Given the description of an element on the screen output the (x, y) to click on. 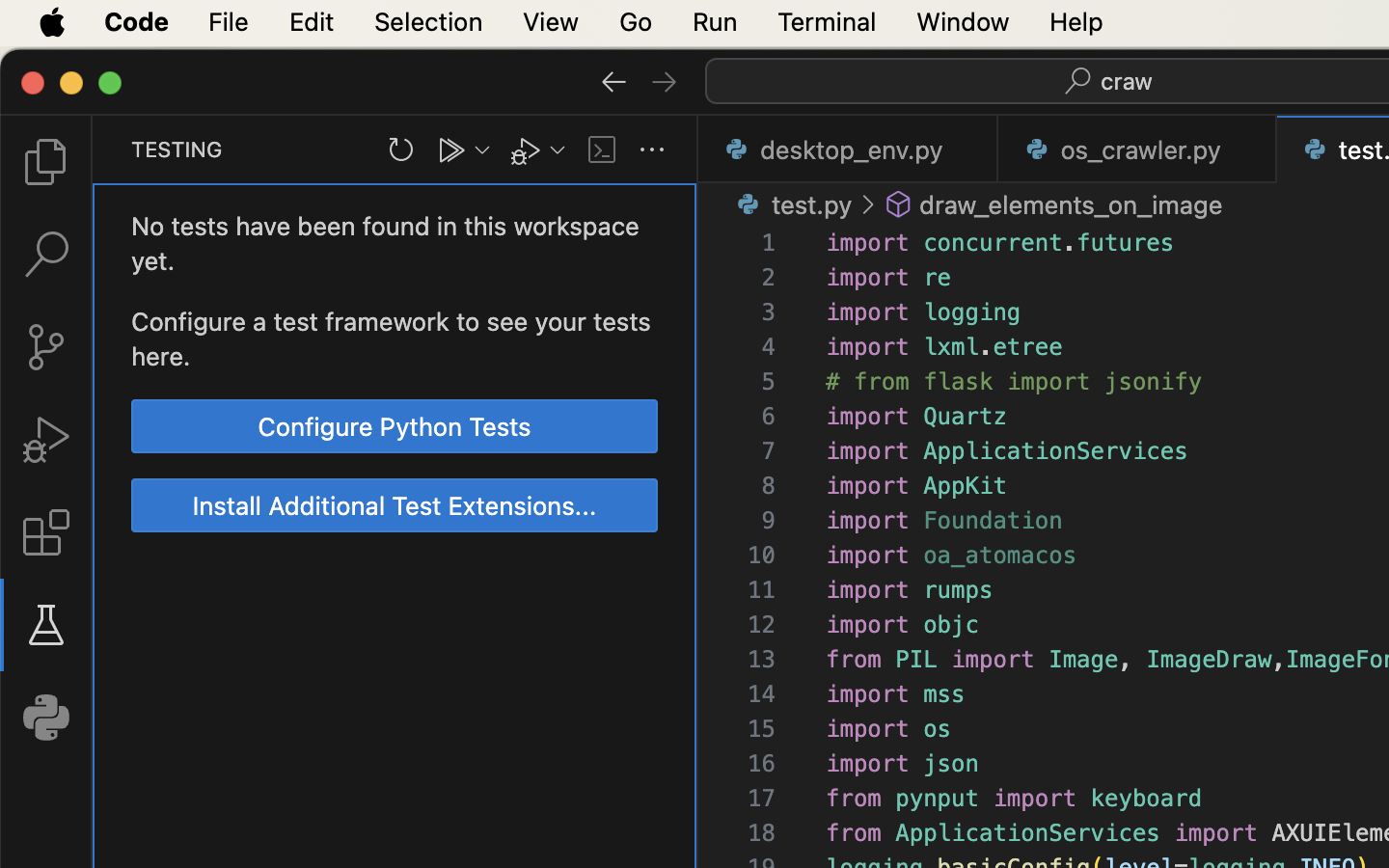
1  Element type: AXRadioButton (46, 624)
0  Element type: AXRadioButton (46, 254)
 Element type: AXStaticText (898, 204)
0 os_crawler.py   Element type: AXRadioButton (1138, 149)
 Element type: AXGroup (46, 532)
